Given the description of an element on the screen output the (x, y) to click on. 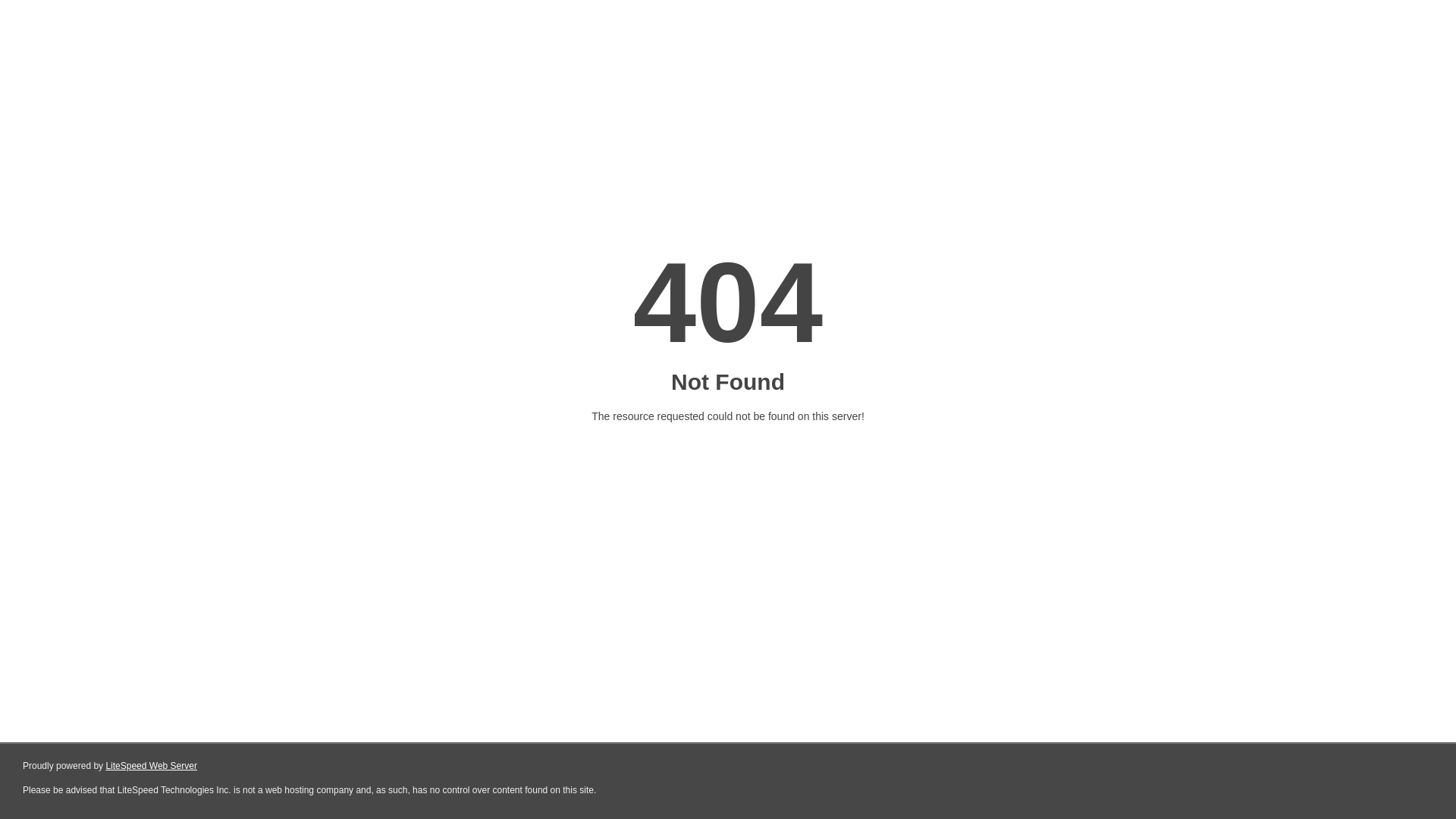
LiteSpeed Web Server Element type: text (151, 765)
